Given the description of an element on the screen output the (x, y) to click on. 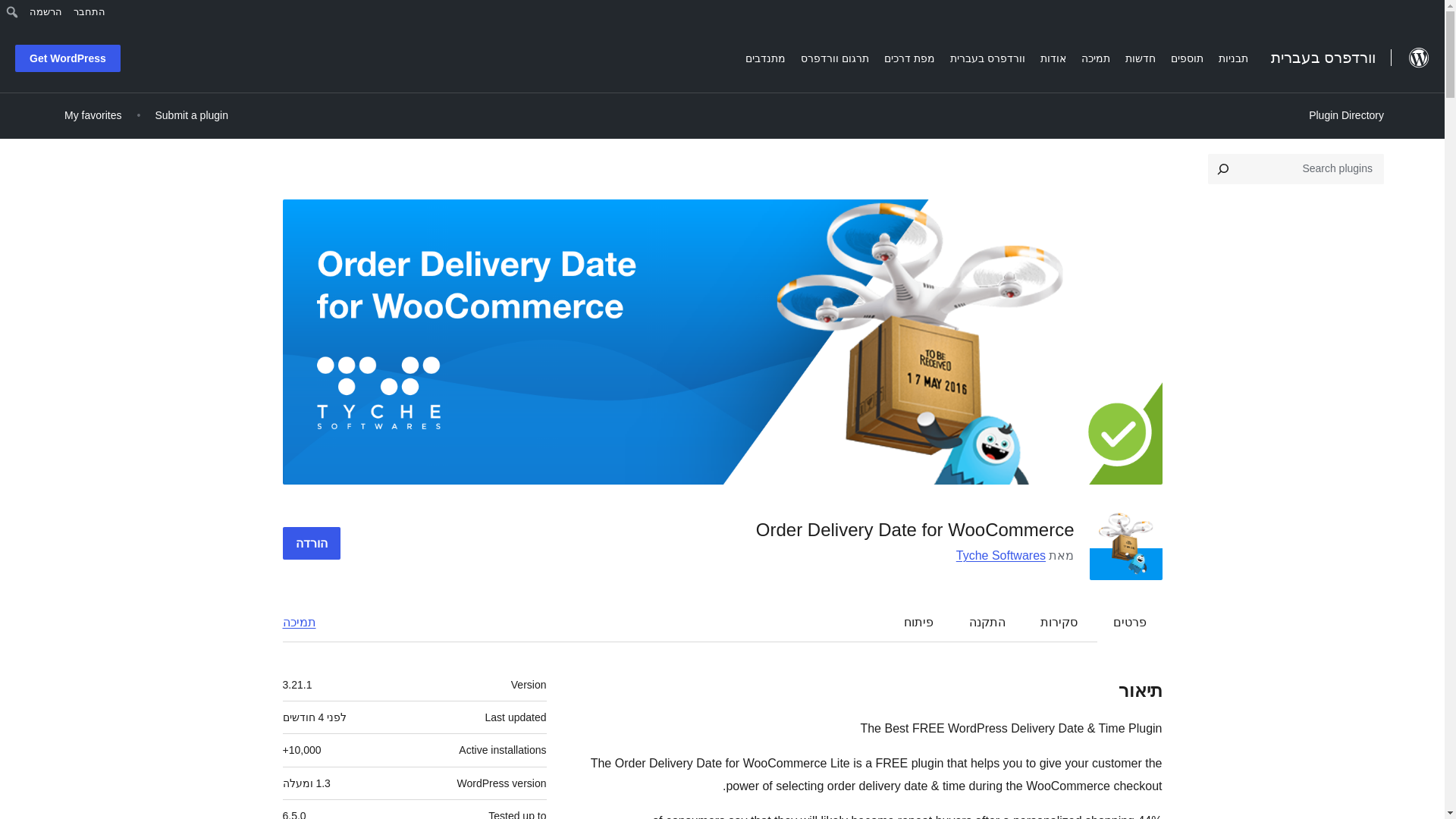
Get WordPress (67, 58)
Tyche Softwares (1000, 554)
Submit a plugin (191, 115)
Plugin Directory (1345, 115)
My favorites (93, 115)
